Given the description of an element on the screen output the (x, y) to click on. 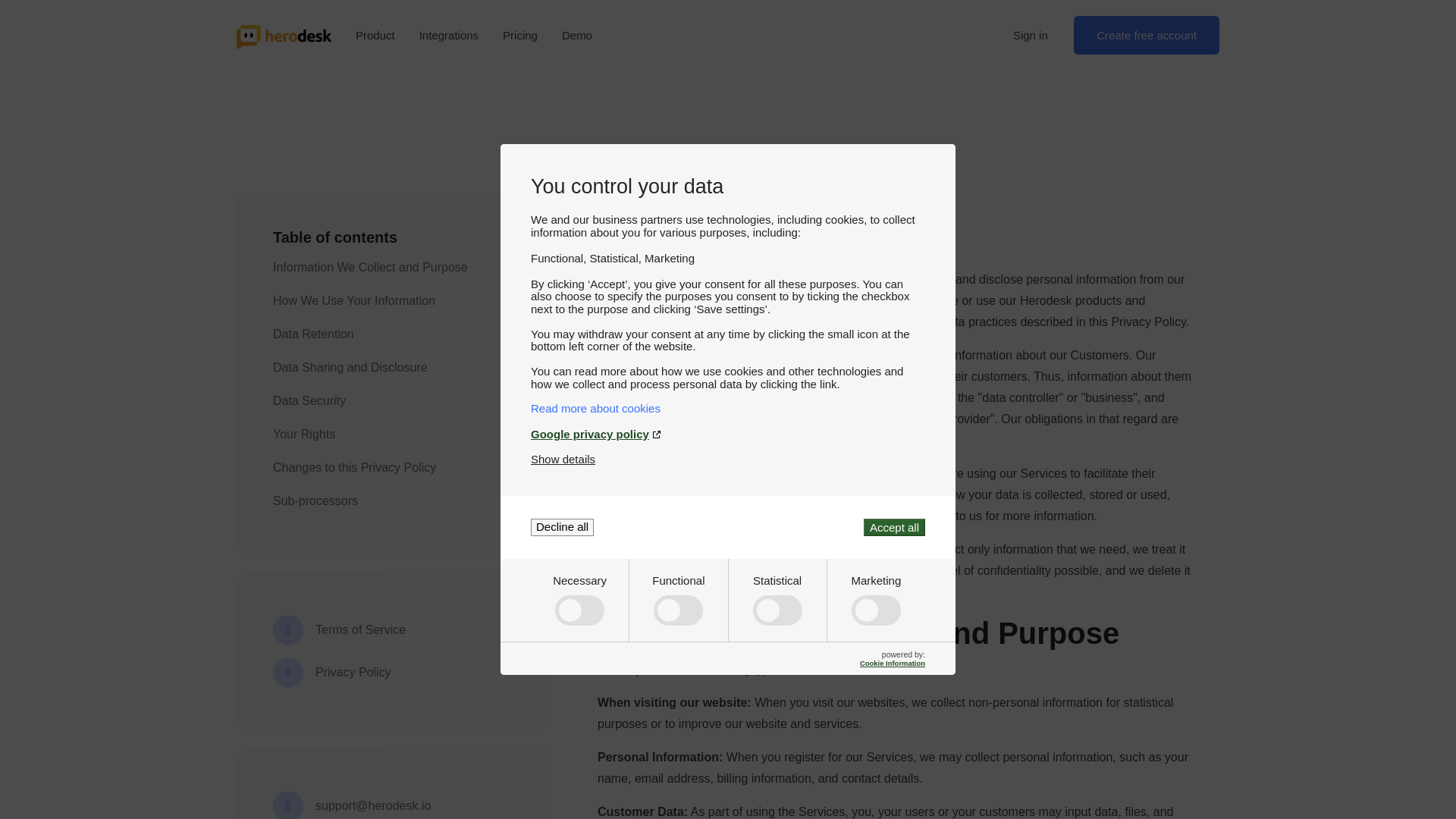
Google privacy policy (727, 433)
Show details (563, 459)
Decline all (562, 527)
Read more about cookies (727, 408)
